Given the description of an element on the screen output the (x, y) to click on. 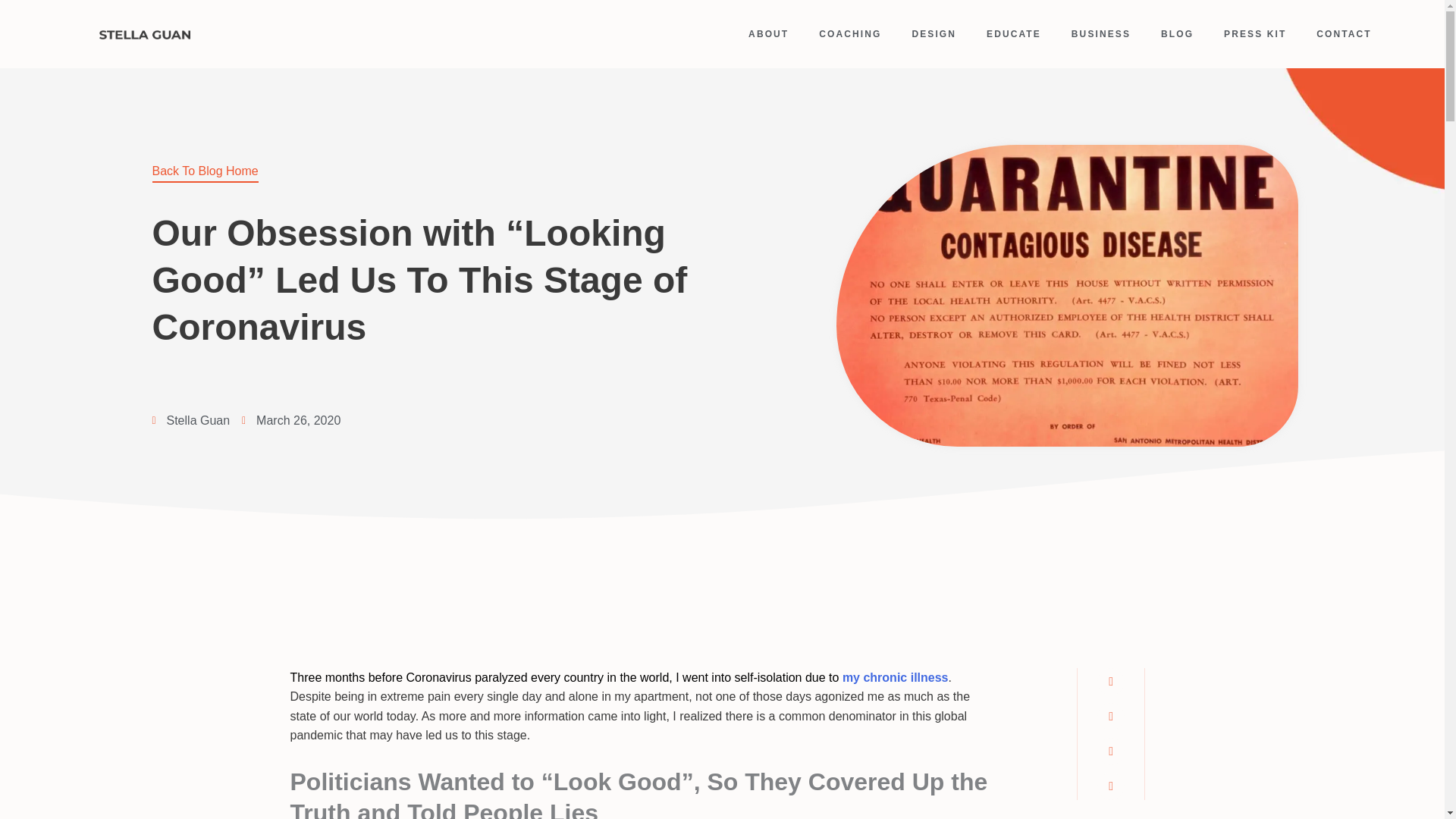
BUSINESS (1101, 33)
CONTACT (1343, 33)
Back To Blog Home (204, 173)
COACHING (849, 33)
my chronic illness (896, 676)
PRESS KIT (1254, 33)
ABOUT (768, 33)
BLOG (1176, 33)
EDUCATE (1014, 33)
DESIGN (933, 33)
